Given the description of an element on the screen output the (x, y) to click on. 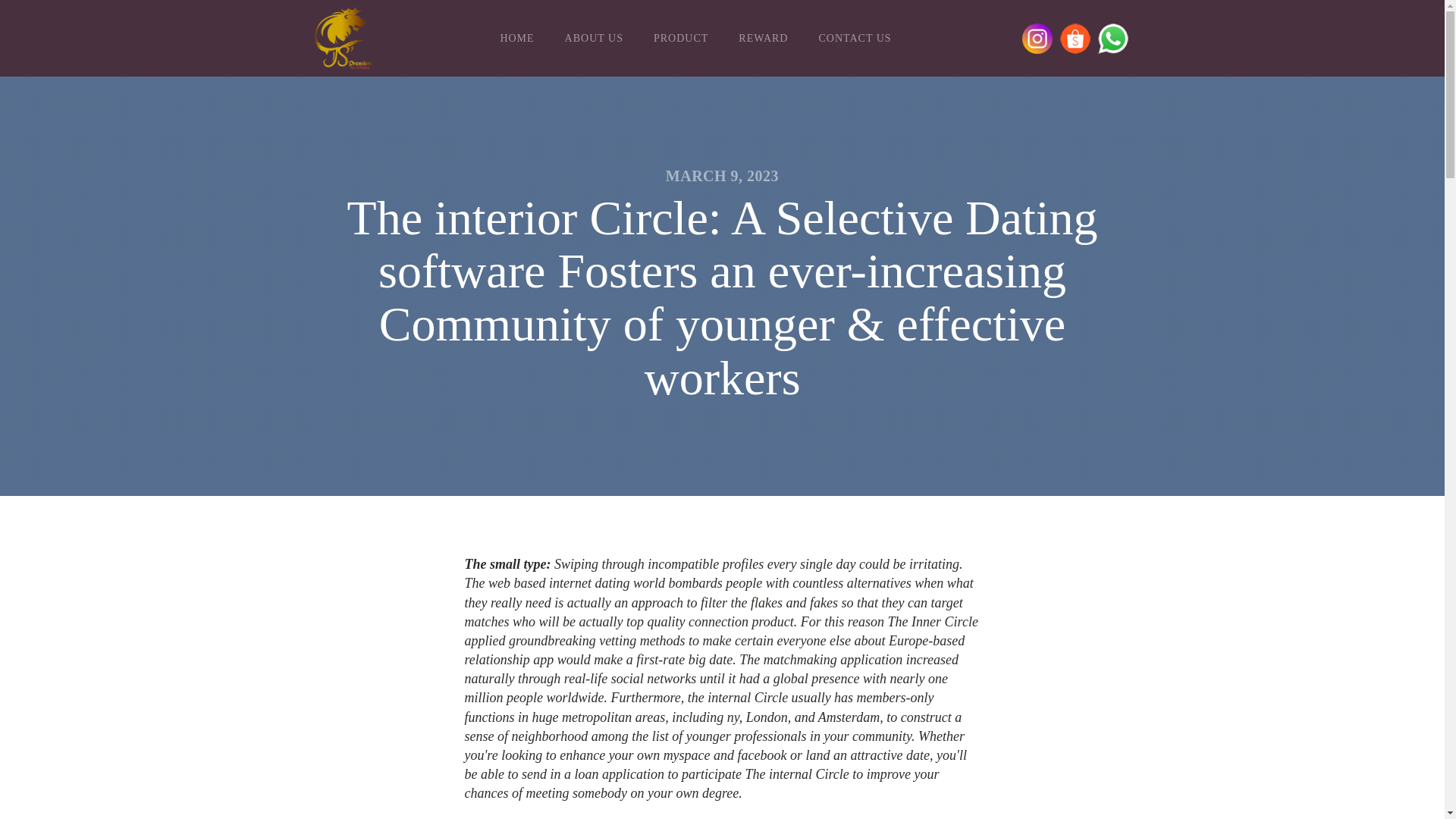
REWARD (763, 38)
CONTACT US (854, 38)
HOME (516, 38)
PRODUCT (681, 38)
ABOUT US (594, 38)
